Given the description of an element on the screen output the (x, y) to click on. 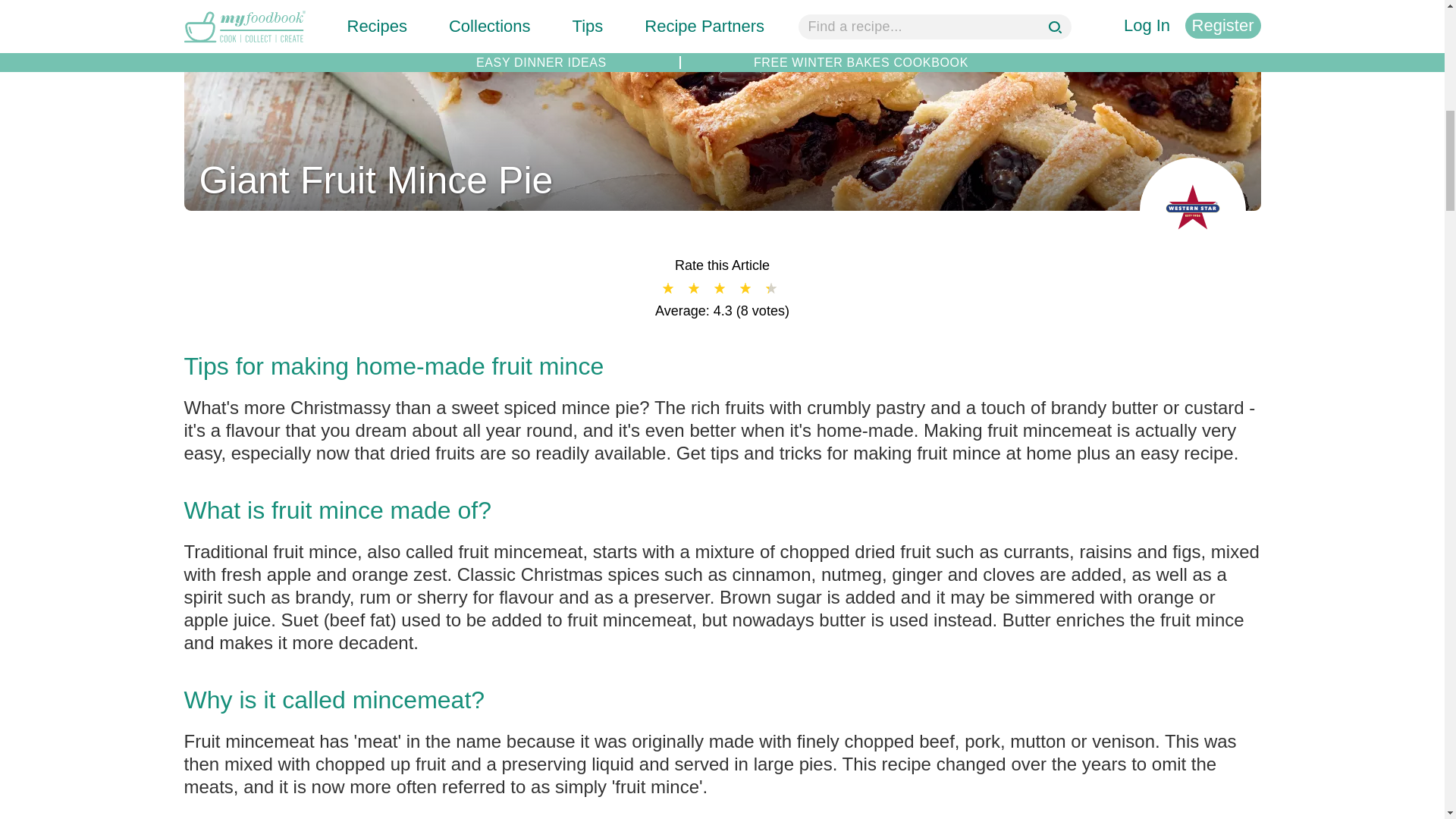
Giant Fruit Mince Pie (375, 179)
Giant Fruit Mince Pie (375, 179)
Giant Fruit Mince Pie (721, 201)
